Given the description of an element on the screen output the (x, y) to click on. 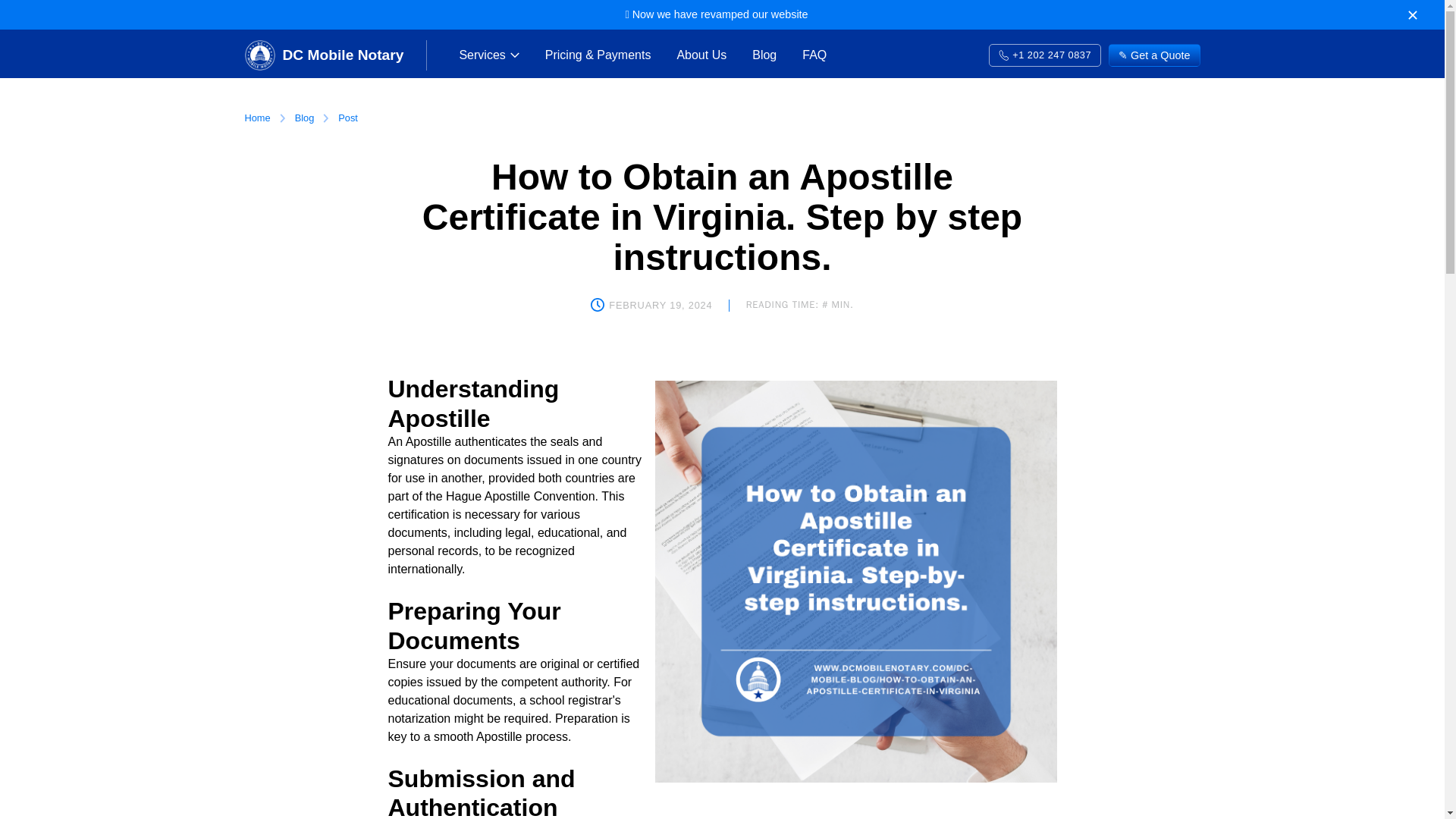
Home (256, 117)
About Us (700, 55)
Blog (304, 117)
Post (347, 117)
Blog (764, 55)
DC Mobile Notary (323, 55)
FAQ (814, 55)
